Given the description of an element on the screen output the (x, y) to click on. 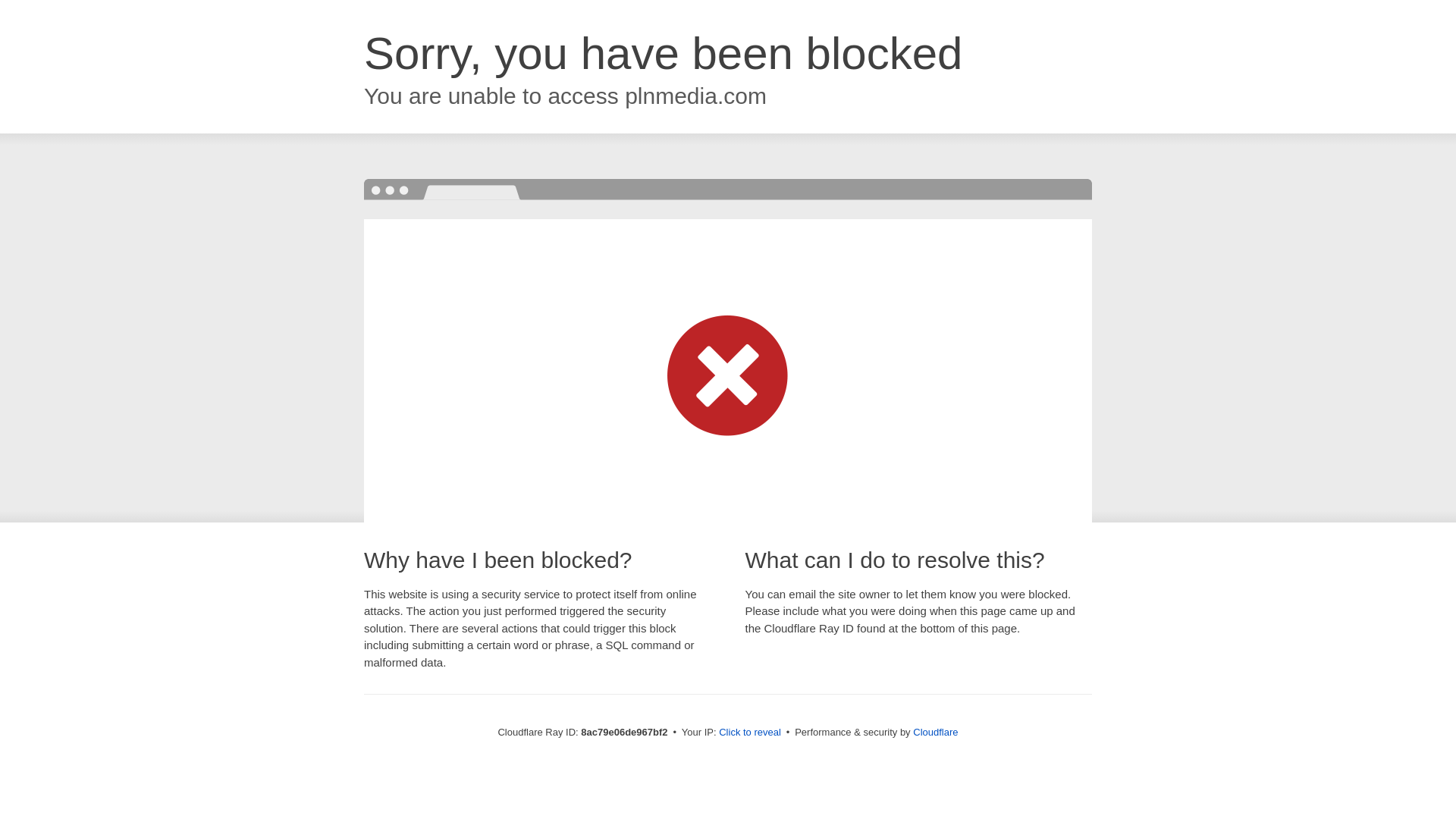
Click to reveal (749, 732)
Cloudflare (935, 731)
